Given the description of an element on the screen output the (x, y) to click on. 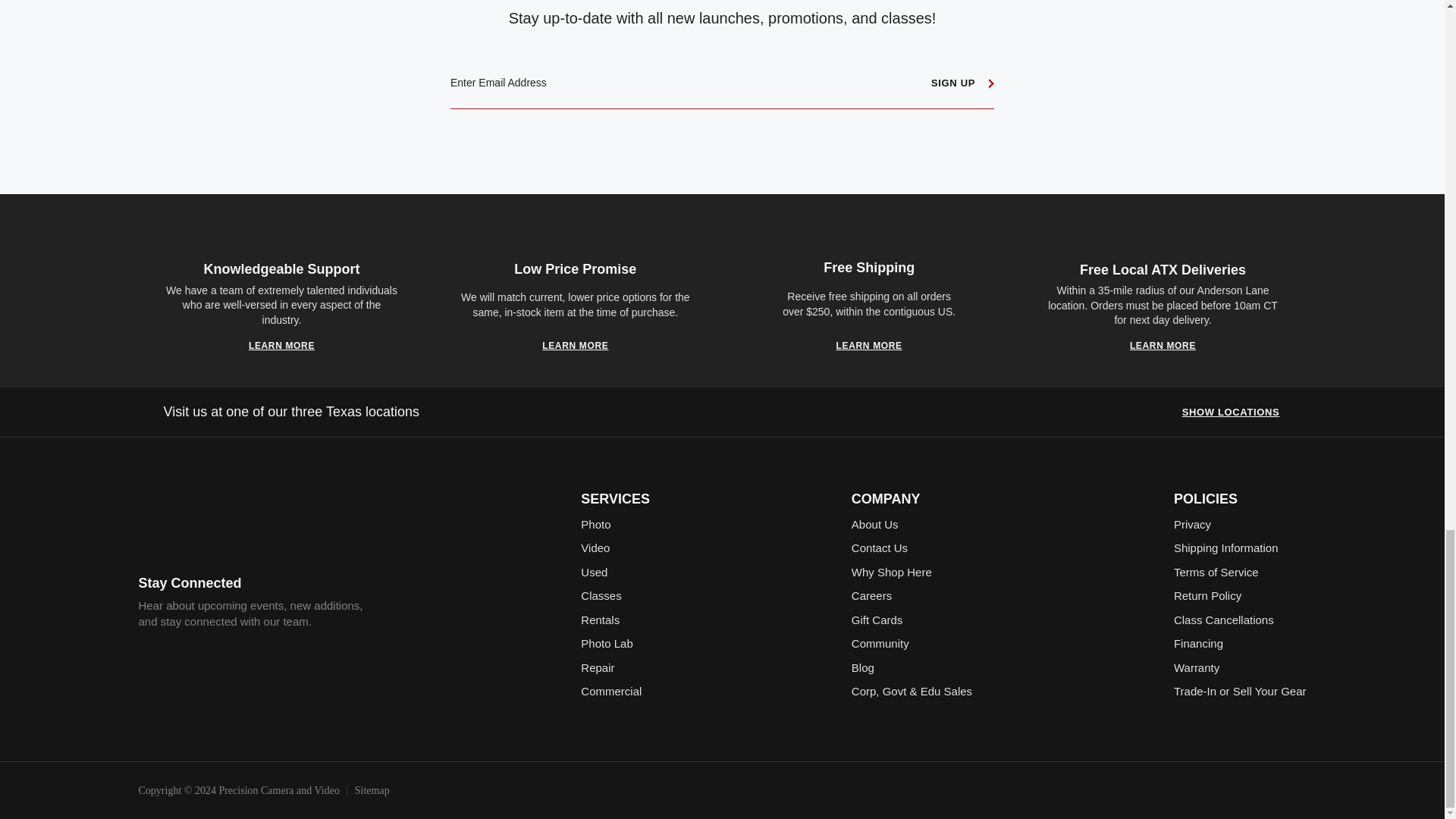
Link for Support (281, 345)
